Given the description of an element on the screen output the (x, y) to click on. 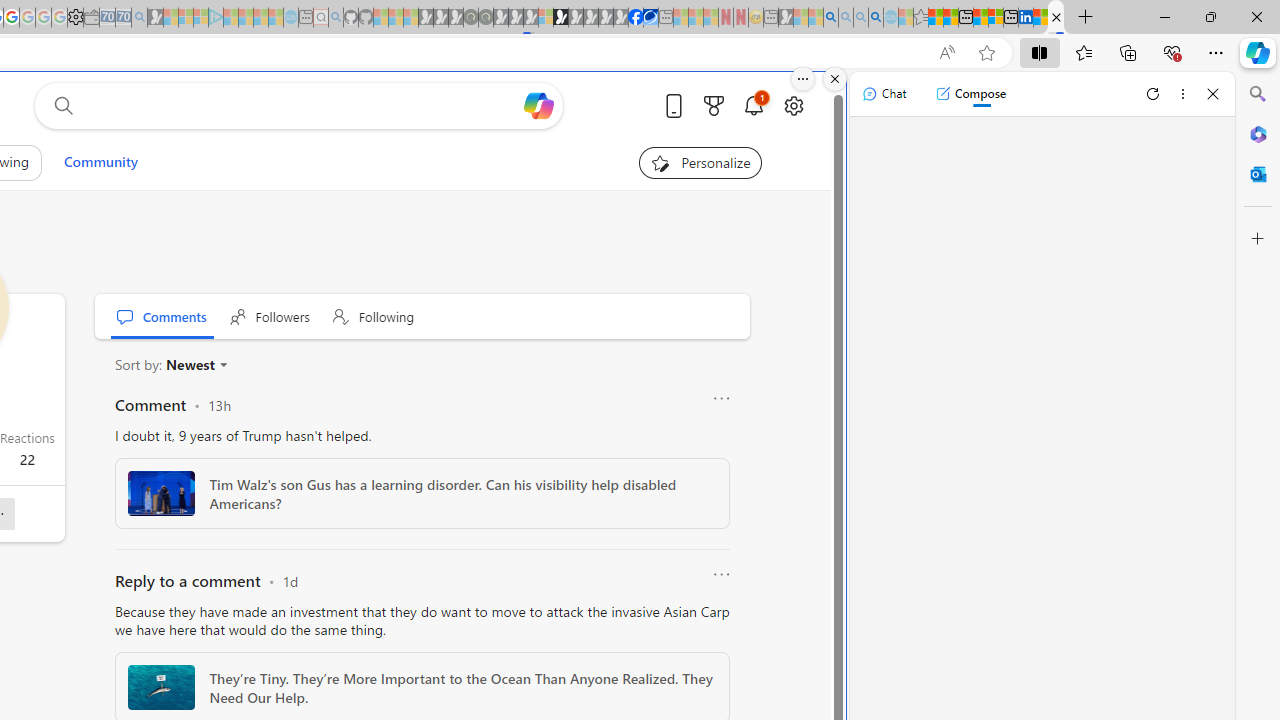
Nordace | Facebook (635, 17)
Class: cwt-icon-vector (223, 364)
Aberdeen, Hong Kong SAR weather forecast | Microsoft Weather (950, 17)
Community (100, 161)
